Given the description of an element on the screen output the (x, y) to click on. 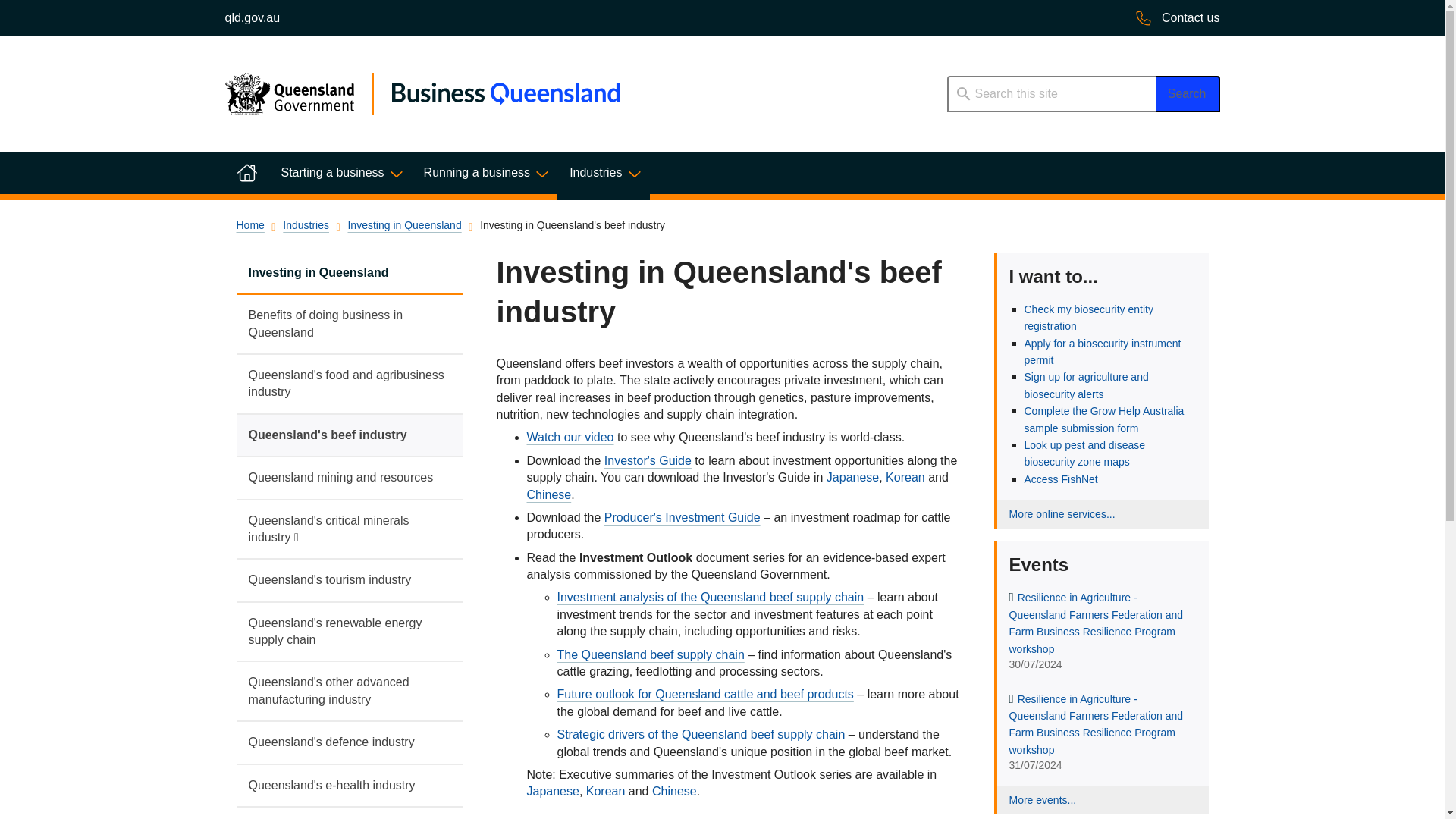
Running a business (484, 172)
Search (1188, 94)
Home (245, 172)
Starting a business (338, 172)
Search this site (1050, 94)
qld.gov.au (251, 18)
Contact us (1177, 18)
